Given the description of an element on the screen output the (x, y) to click on. 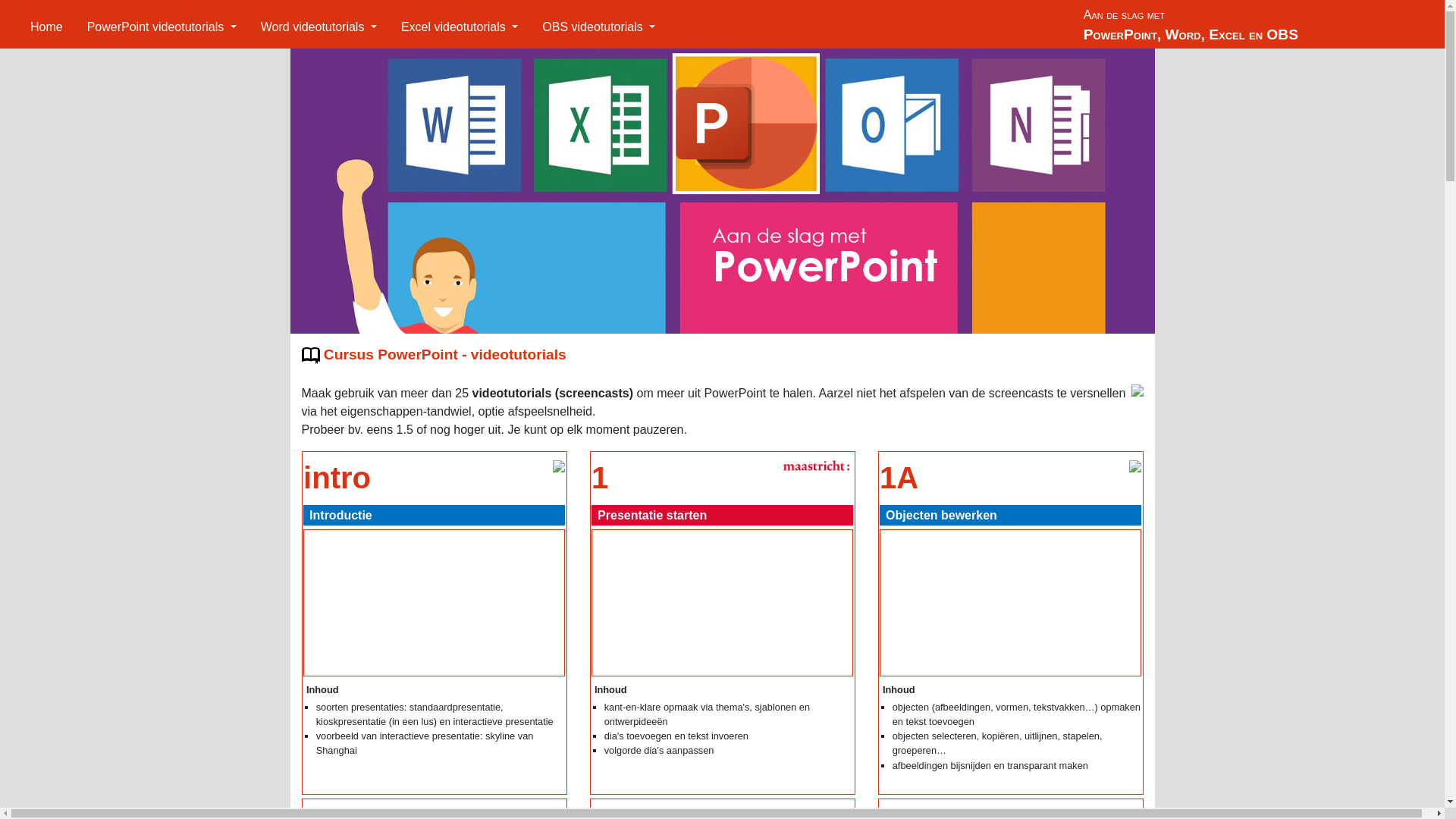
YouTube video player Element type: hover (1010, 602)
Excel videotutorials Element type: text (459, 27)
YouTube video player Element type: hover (722, 602)
Word videotutorials Element type: text (318, 27)
YouTube video player Element type: hover (433, 602)
OBS videotutorials Element type: text (598, 27)
PowerPoint videotutorials Element type: text (161, 27)
Home
(current) Element type: text (46, 27)
